Given the description of an element on the screen output the (x, y) to click on. 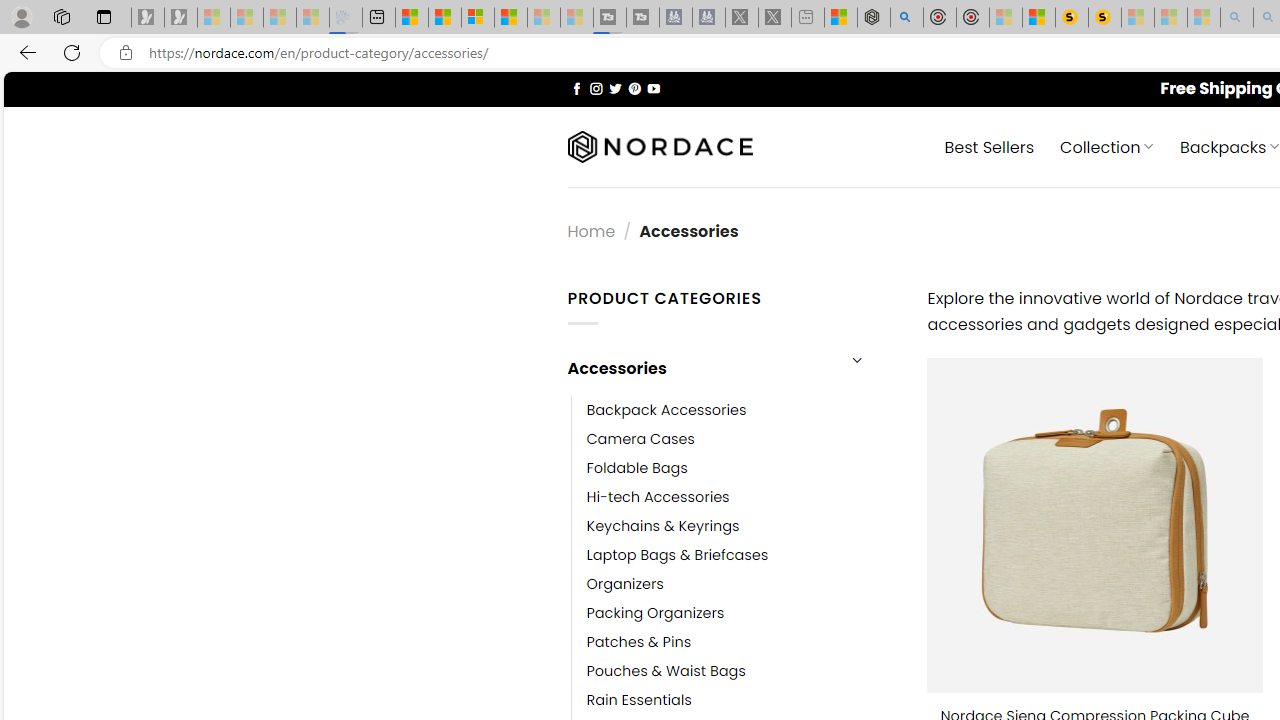
Organizers (742, 584)
amazon - Search - Sleeping (1237, 17)
Foldable Bags (742, 467)
 Best Sellers (989, 146)
Follow on Facebook (576, 88)
Organizers (625, 584)
Camera Cases (640, 439)
Packing Organizers (655, 614)
Camera Cases (742, 439)
Follow on YouTube (653, 88)
